Given the description of an element on the screen output the (x, y) to click on. 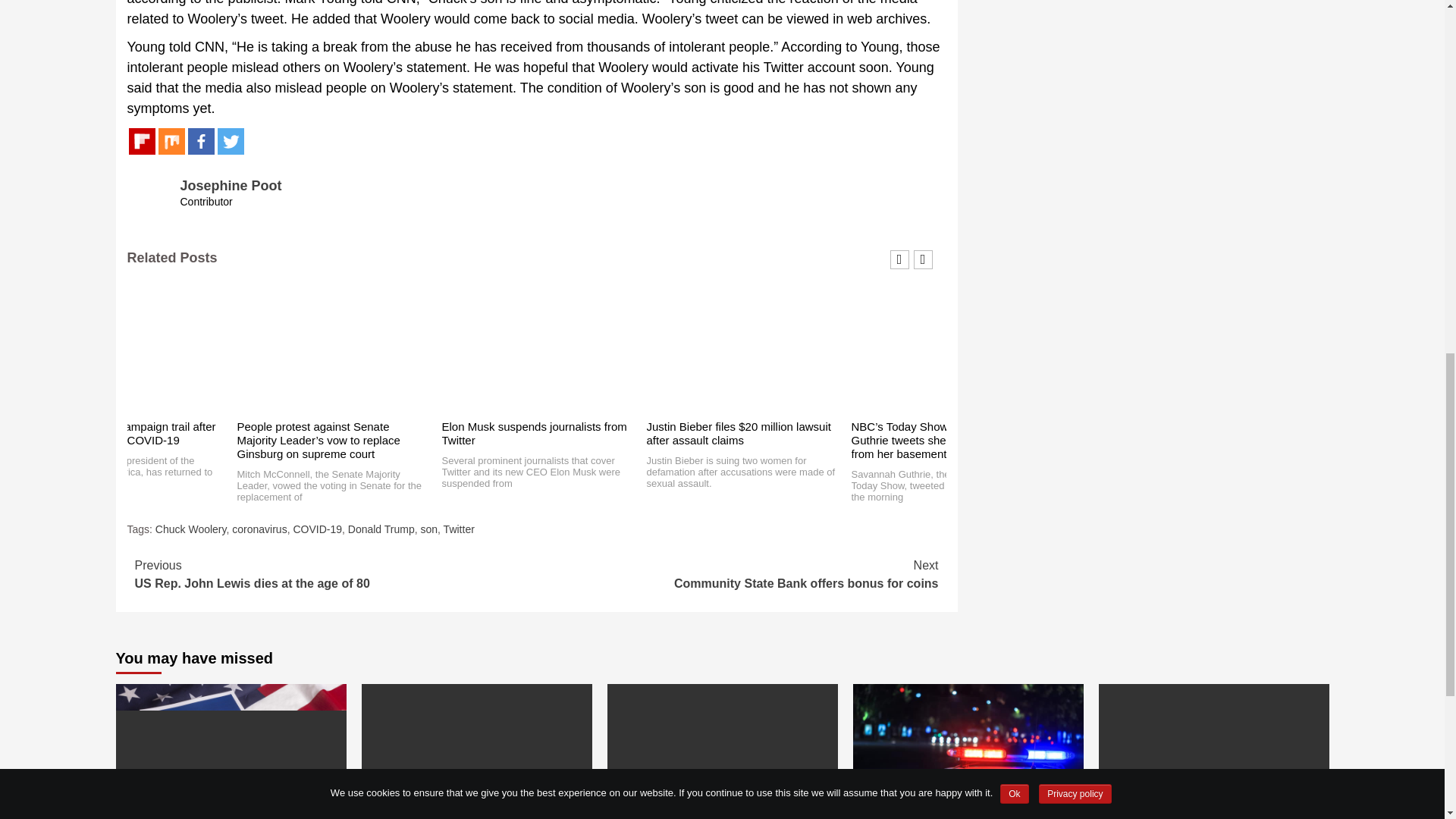
Twitter (229, 140)
Josephine Poot (231, 185)
Mix (170, 140)
Facebook (200, 140)
Elon Musk suspends journalists from Twitter (533, 433)
Flipboard (142, 140)
